Given the description of an element on the screen output the (x, y) to click on. 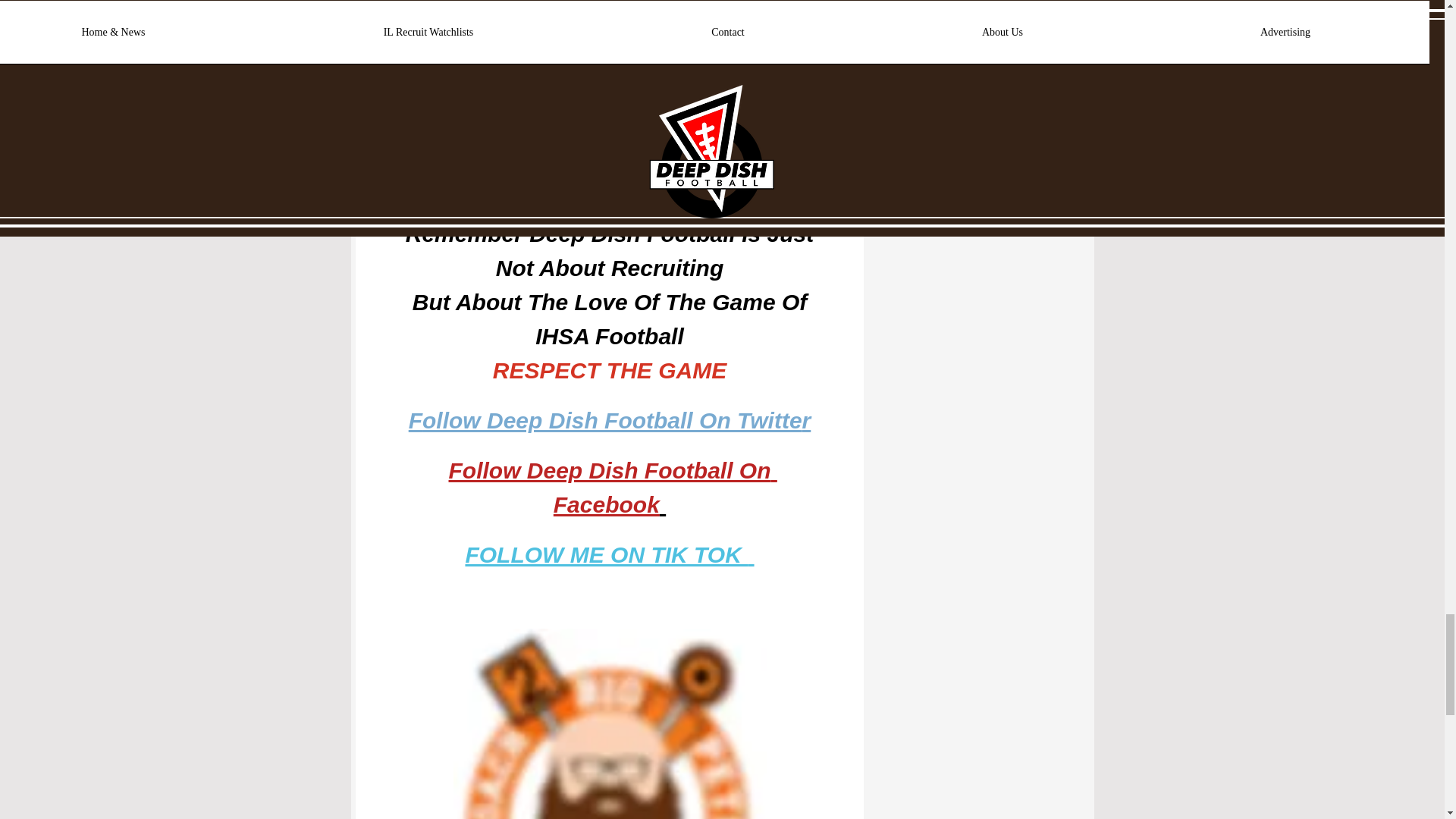
Follow Deep Dish Football On Facebook (612, 491)
ollow Deep Dish Football On Twitte (612, 424)
FOLLOW ME ON TIK TOK  (606, 558)
